Given the description of an element on the screen output the (x, y) to click on. 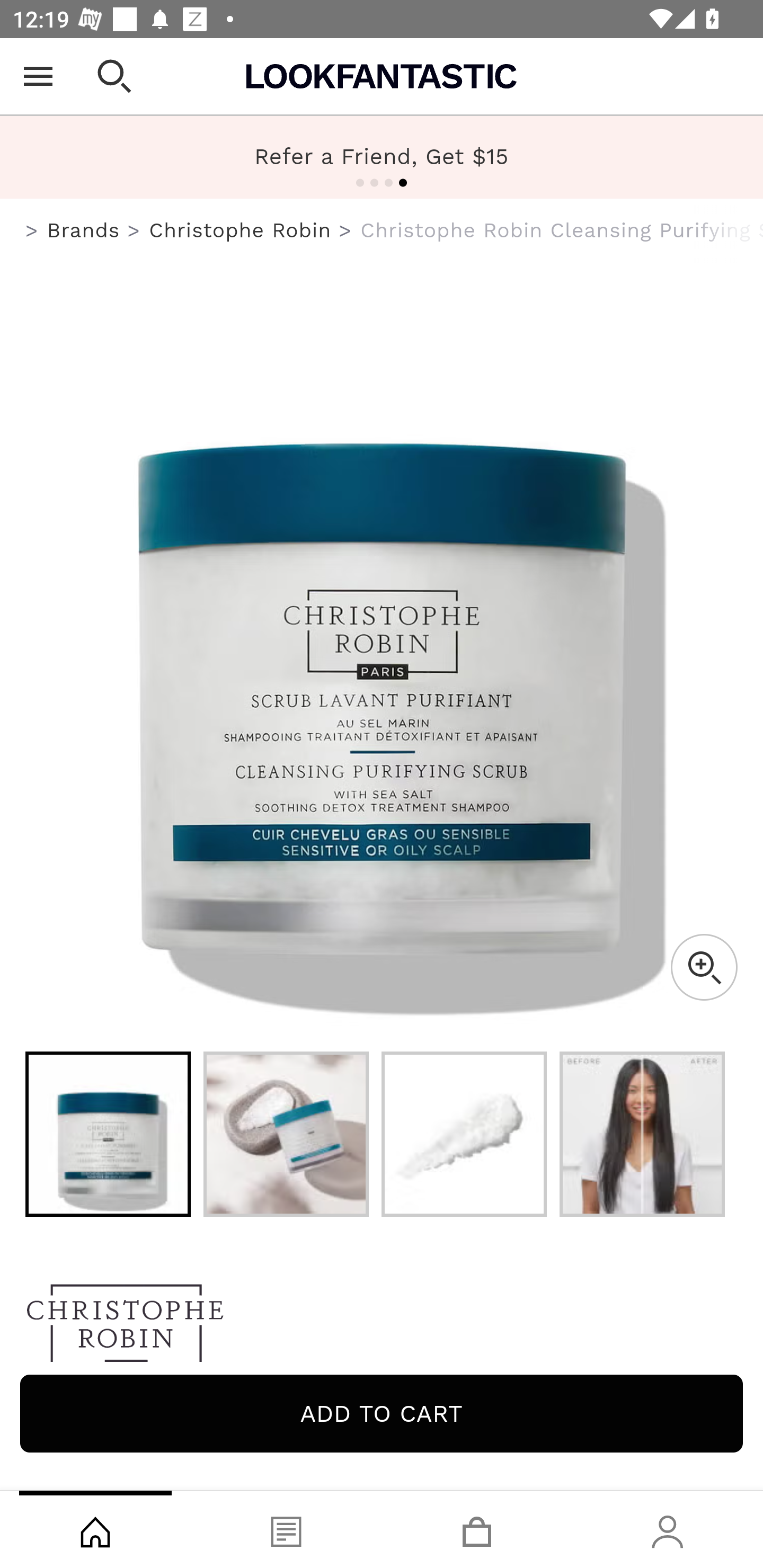
Open Menu (38, 75)
Open search (114, 75)
Lookfantastic USA (381, 75)
us.lookfantastic (32, 230)
Brands (82, 230)
Christophe Robin (239, 230)
Zoom (703, 966)
Christophe Robin (381, 1327)
Add to cart (381, 1413)
Shop, tab, 1 of 4 (95, 1529)
Blog, tab, 2 of 4 (285, 1529)
Basket, tab, 3 of 4 (476, 1529)
Account, tab, 4 of 4 (667, 1529)
